Given the description of an element on the screen output the (x, y) to click on. 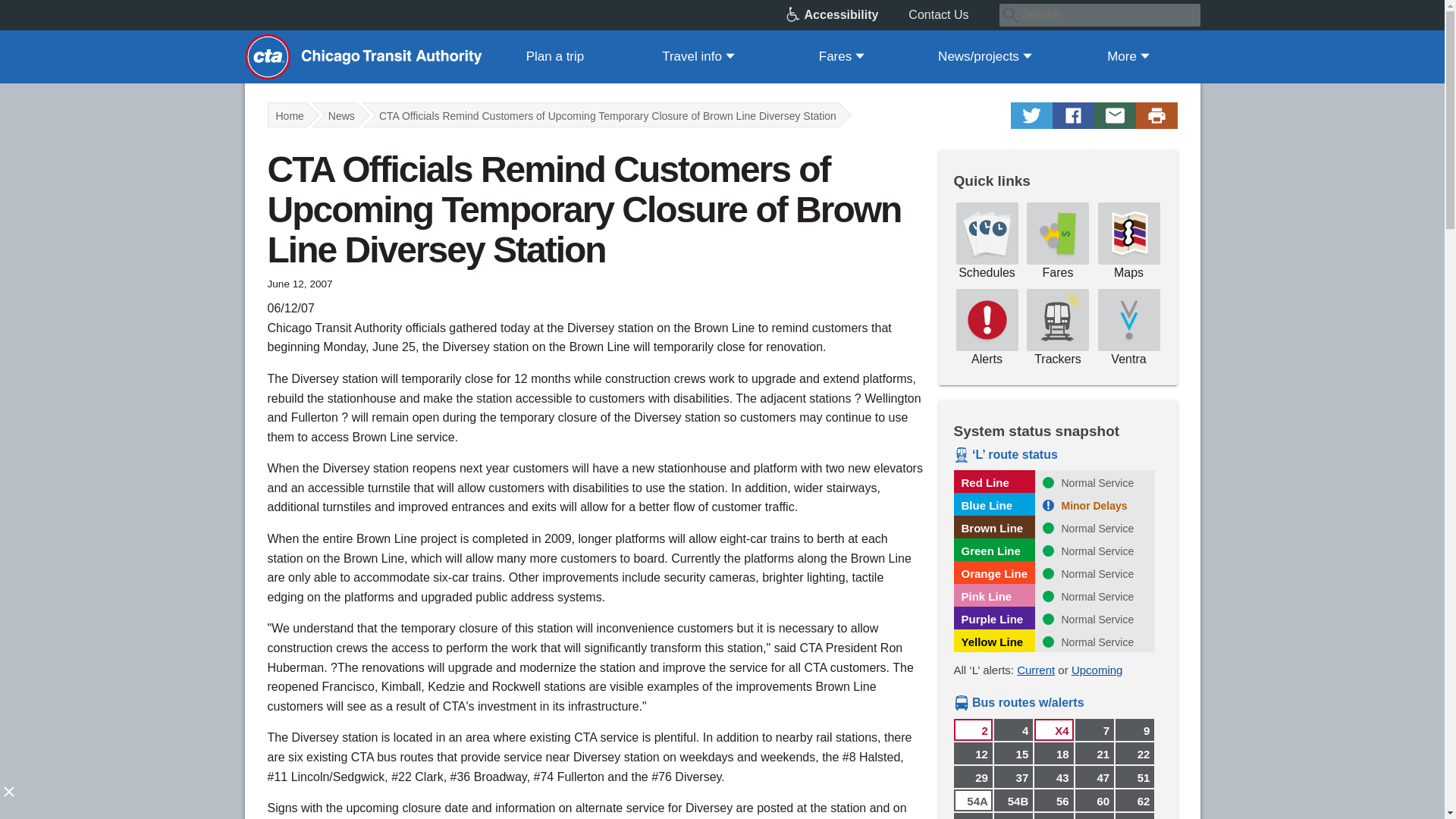
Travel info (698, 56)
Plan a trip (555, 56)
Contact Us (953, 15)
Accessibility (847, 15)
